Given the description of an element on the screen output the (x, y) to click on. 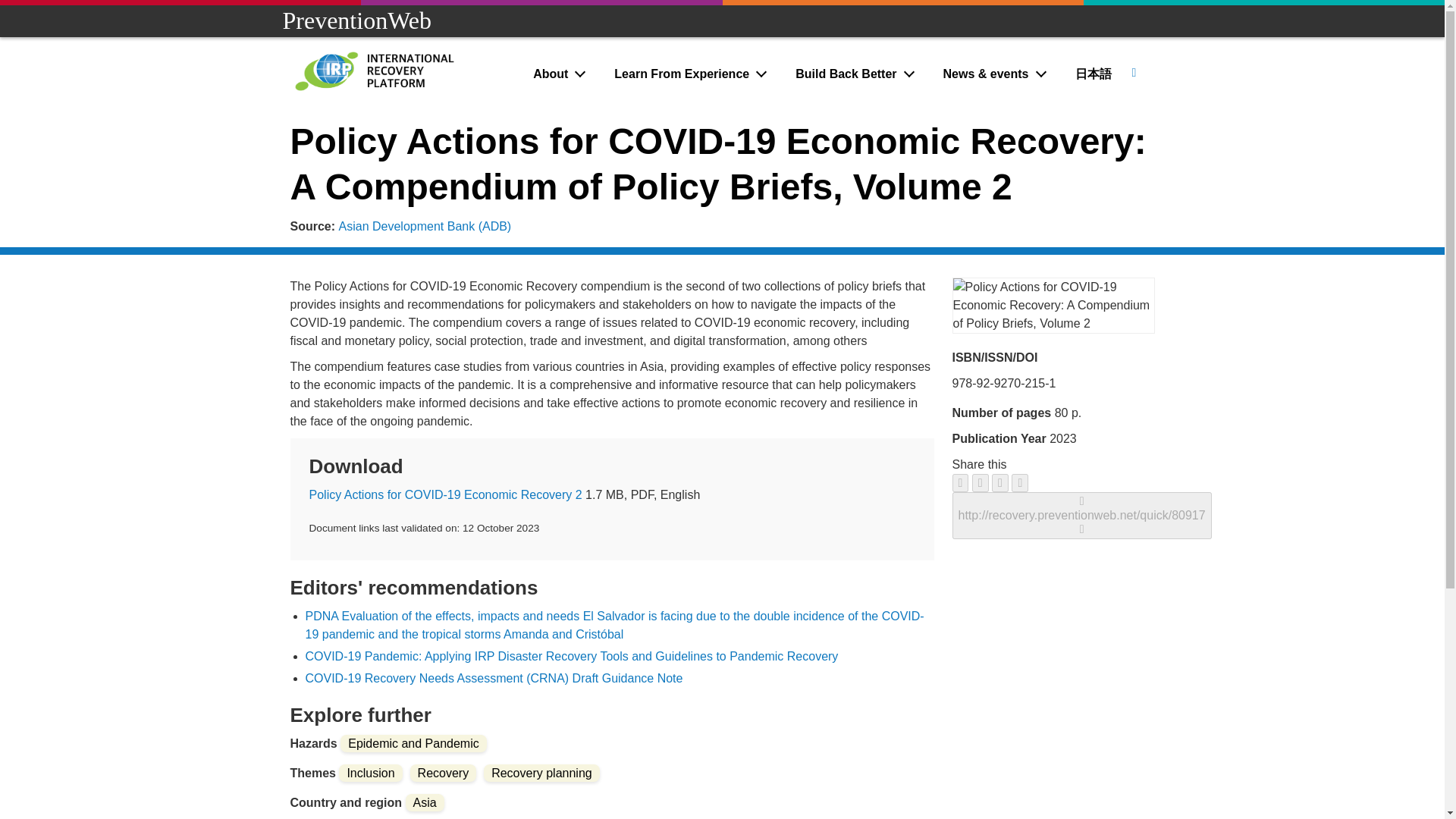
Share on Twitter (980, 483)
Share via Email (1019, 483)
Share on LinkedIn (1000, 483)
About (560, 73)
Learn From Experience (692, 73)
Build Back Better (856, 73)
Share on Facebook (960, 483)
Copy to Clipboard (1081, 515)
